Given the description of an element on the screen output the (x, y) to click on. 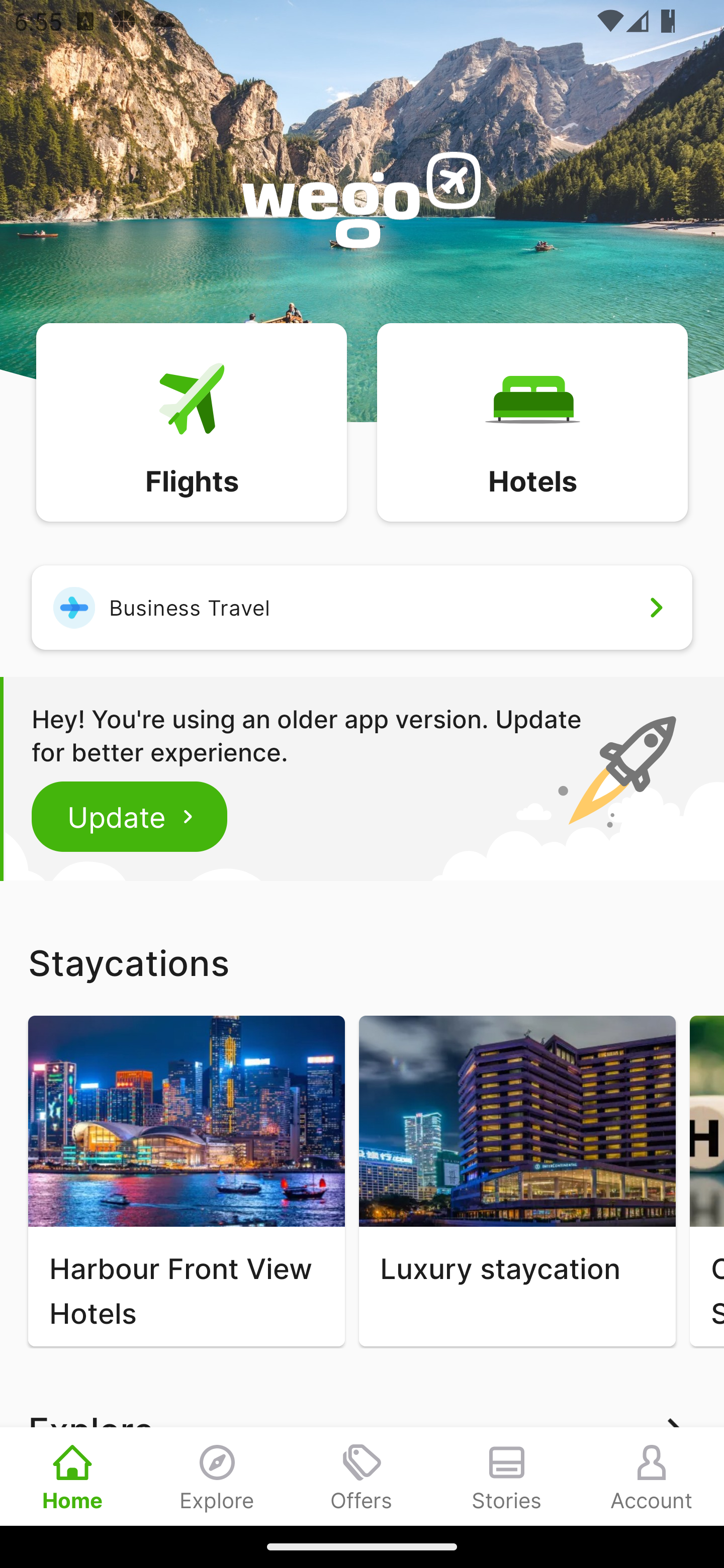
Flights (191, 420)
Hotels (532, 420)
Business Travel (361, 607)
Update (129, 815)
Staycations (362, 962)
Harbour Front View Hotels (186, 1181)
Luxury staycation (517, 1181)
Explore (216, 1475)
Offers (361, 1475)
Stories (506, 1475)
Account (651, 1475)
